Given the description of an element on the screen output the (x, y) to click on. 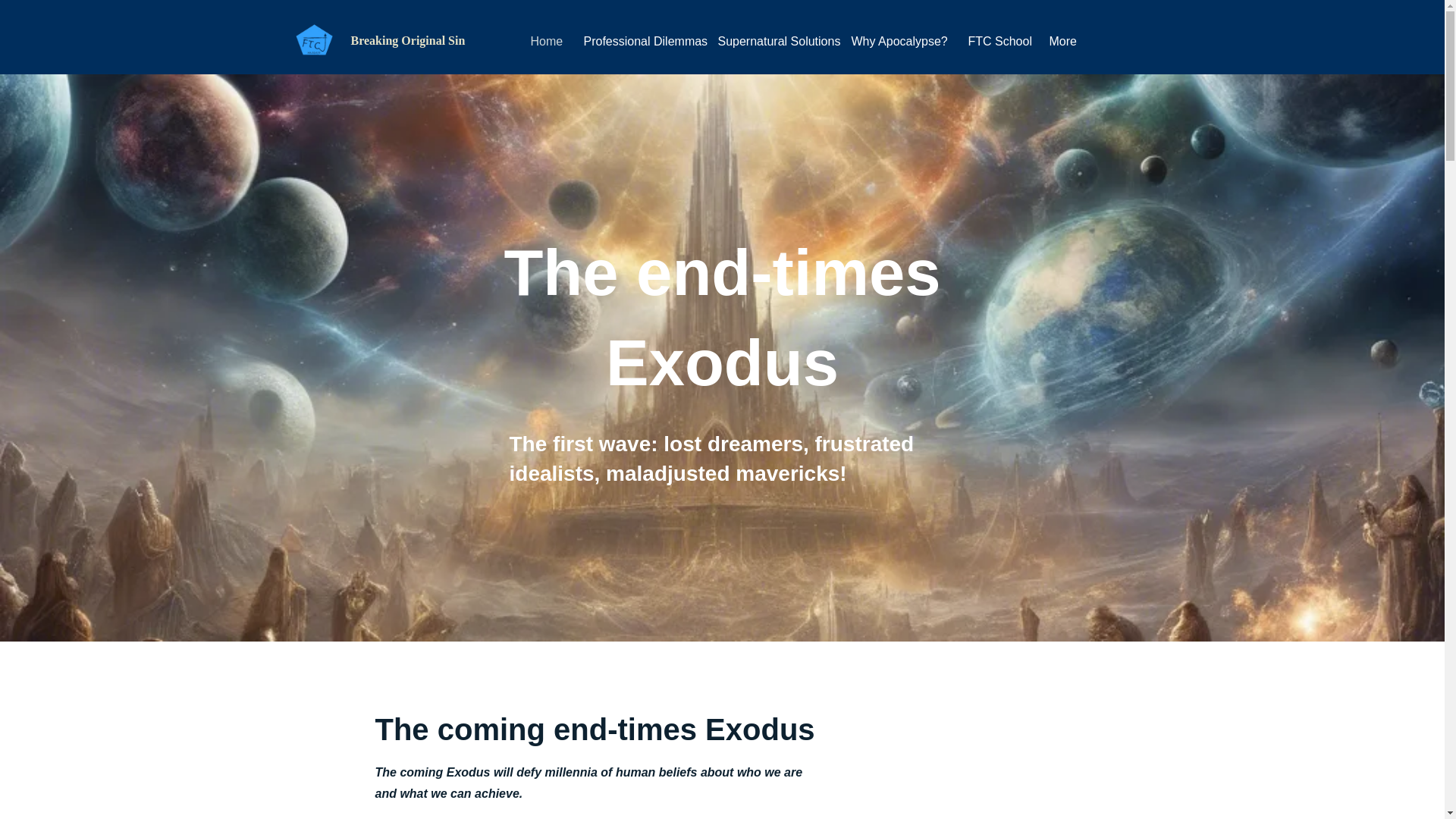
Why Apocalypse? (898, 41)
Home (545, 41)
FTC School (997, 41)
Professional Dilemmas (639, 41)
Supernatural Solutions (773, 41)
